Given the description of an element on the screen output the (x, y) to click on. 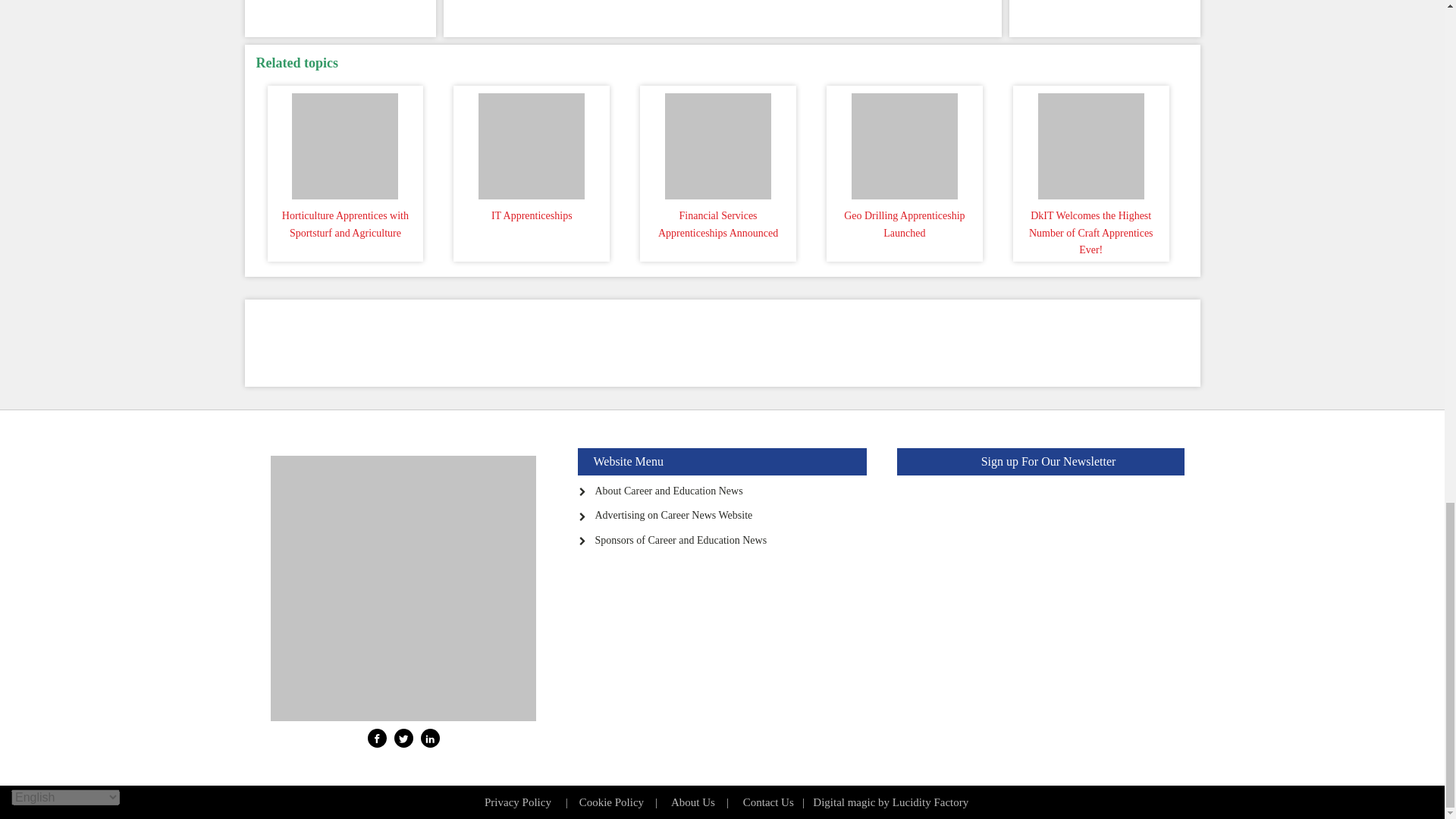
DkIT Welcomes the Highest Number of Craft Apprentices Ever! (1091, 142)
Horticulture Apprentices with Sportsturf and Agriculture (345, 142)
IT Apprenticeships (531, 142)
Financial Services Apprenticeships Announced (717, 142)
Geo Drilling Apprenticeship Launched (903, 142)
